Given the description of an element on the screen output the (x, y) to click on. 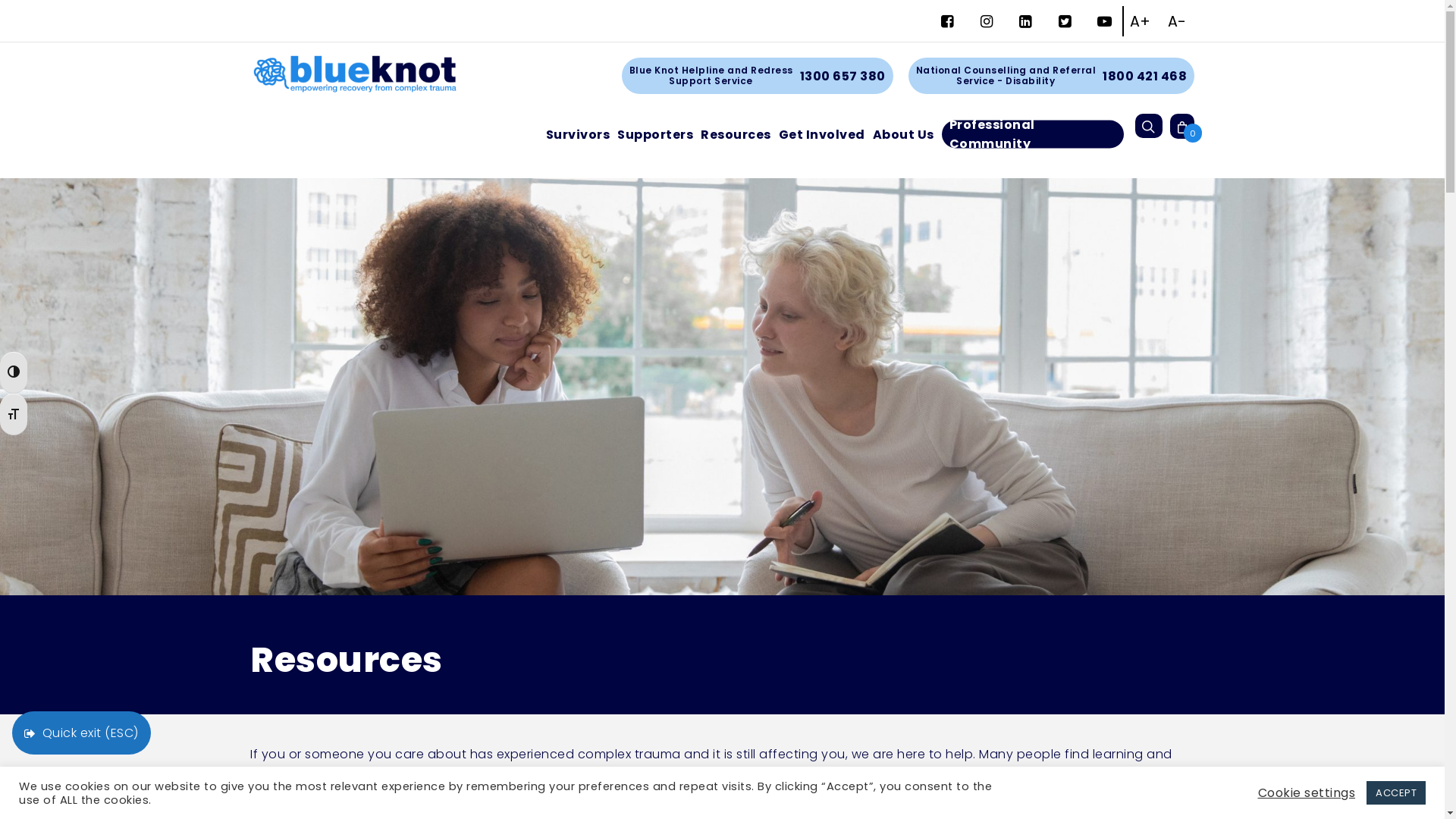
Quick exit (ESC) Element type: text (81, 732)
Supporters Element type: text (655, 134)
Survivors Element type: text (578, 134)
A- Element type: text (1176, 21)
1300 657 380 Element type: text (841, 75)
ACCEPT Element type: text (1395, 792)
0 Element type: text (1181, 125)
Linkedin Element type: text (1025, 23)
Cookie settings Element type: text (1306, 792)
Instagram Element type: text (985, 23)
Youtube Element type: text (1104, 23)
Get Involved Element type: text (821, 134)
Facebook Element type: text (947, 23)
Resources Element type: text (735, 134)
Twitter Element type: text (1064, 23)
Toggle Font size Element type: text (13, 414)
Skip to content Element type: text (0, 0)
A+ Element type: text (1140, 21)
Toggle High Contrast Element type: text (13, 372)
1800 421 468 Element type: text (1144, 75)
Blue Knot Helpline and Redress
Support Service Element type: text (711, 75)
About Us Element type: text (902, 134)
Professional Community Element type: text (1032, 134)
National Counselling and Referral
Service - Disability Element type: text (1006, 75)
